Given the description of an element on the screen output the (x, y) to click on. 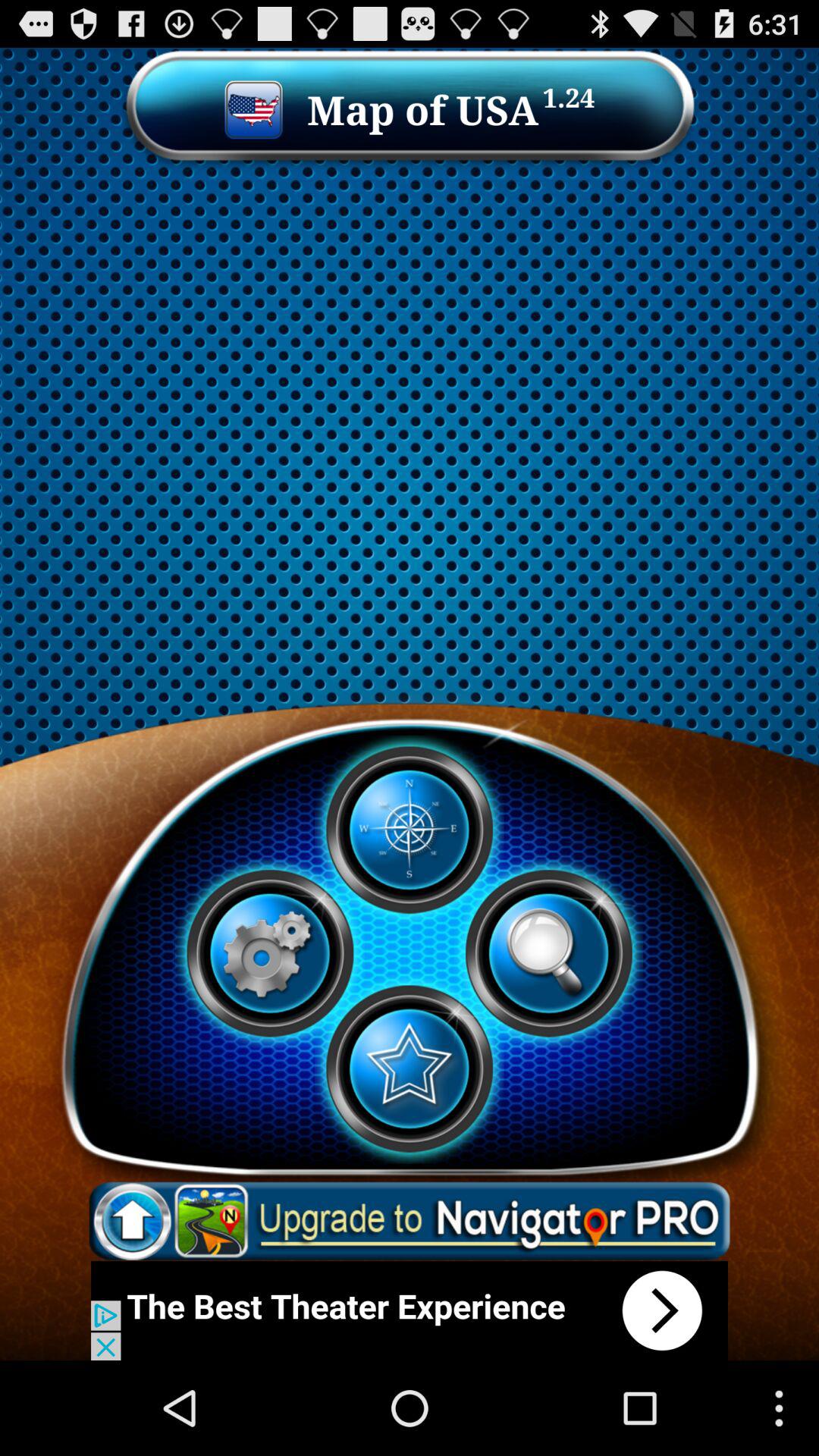
search option (548, 953)
